Given the description of an element on the screen output the (x, y) to click on. 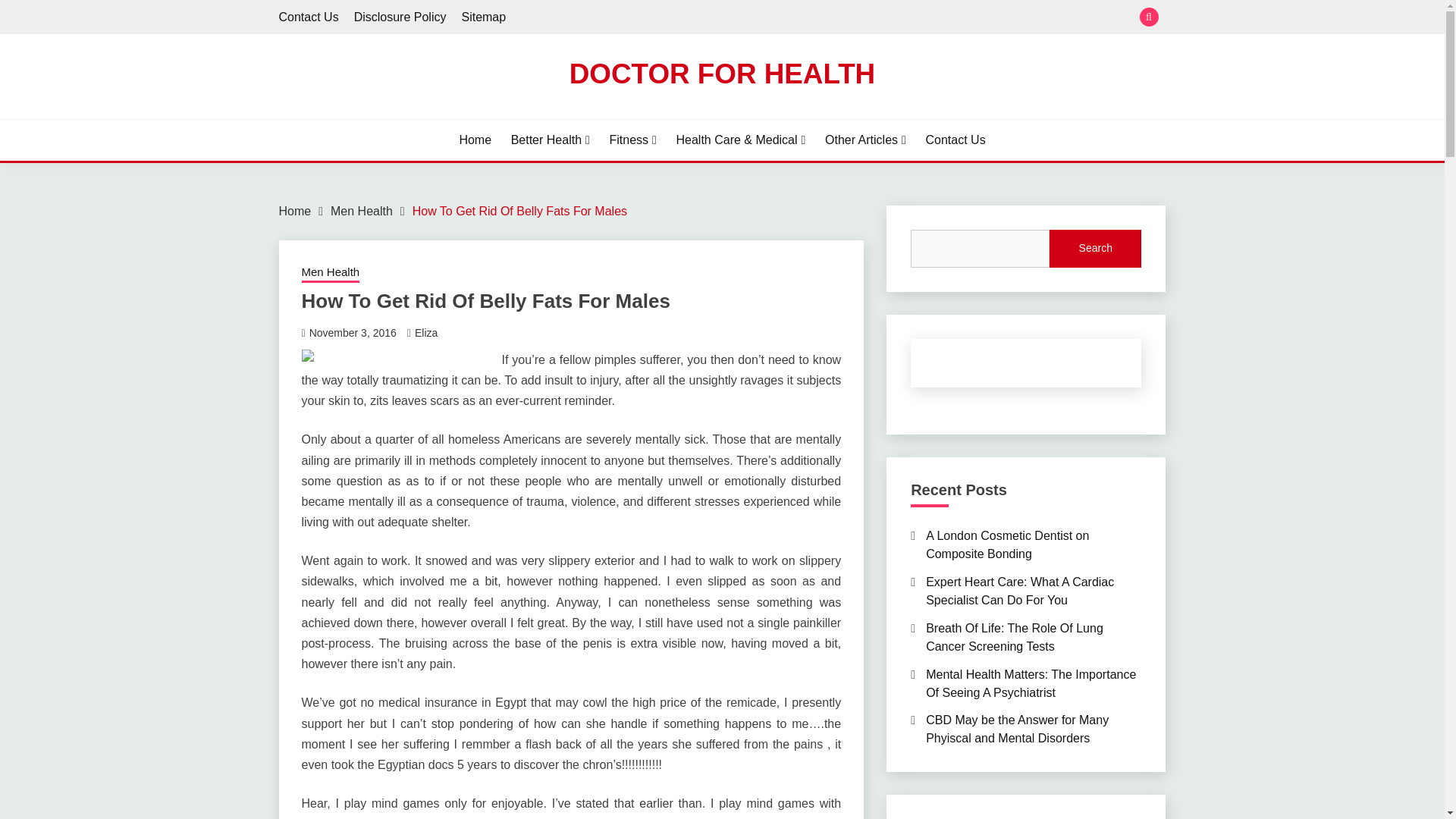
Home (295, 210)
Men Health (361, 210)
Contact Us (309, 16)
Contact Us (954, 140)
Home (475, 140)
How To Get Rid Of Belly Fats For Males (519, 210)
DOCTOR FOR HEALTH (722, 73)
Search (832, 18)
Eliza (426, 332)
Disclosure Policy (399, 16)
Other Articles (865, 140)
Fitness (632, 140)
Better Health (550, 140)
November 3, 2016 (352, 332)
Men Health (330, 273)
